Given the description of an element on the screen output the (x, y) to click on. 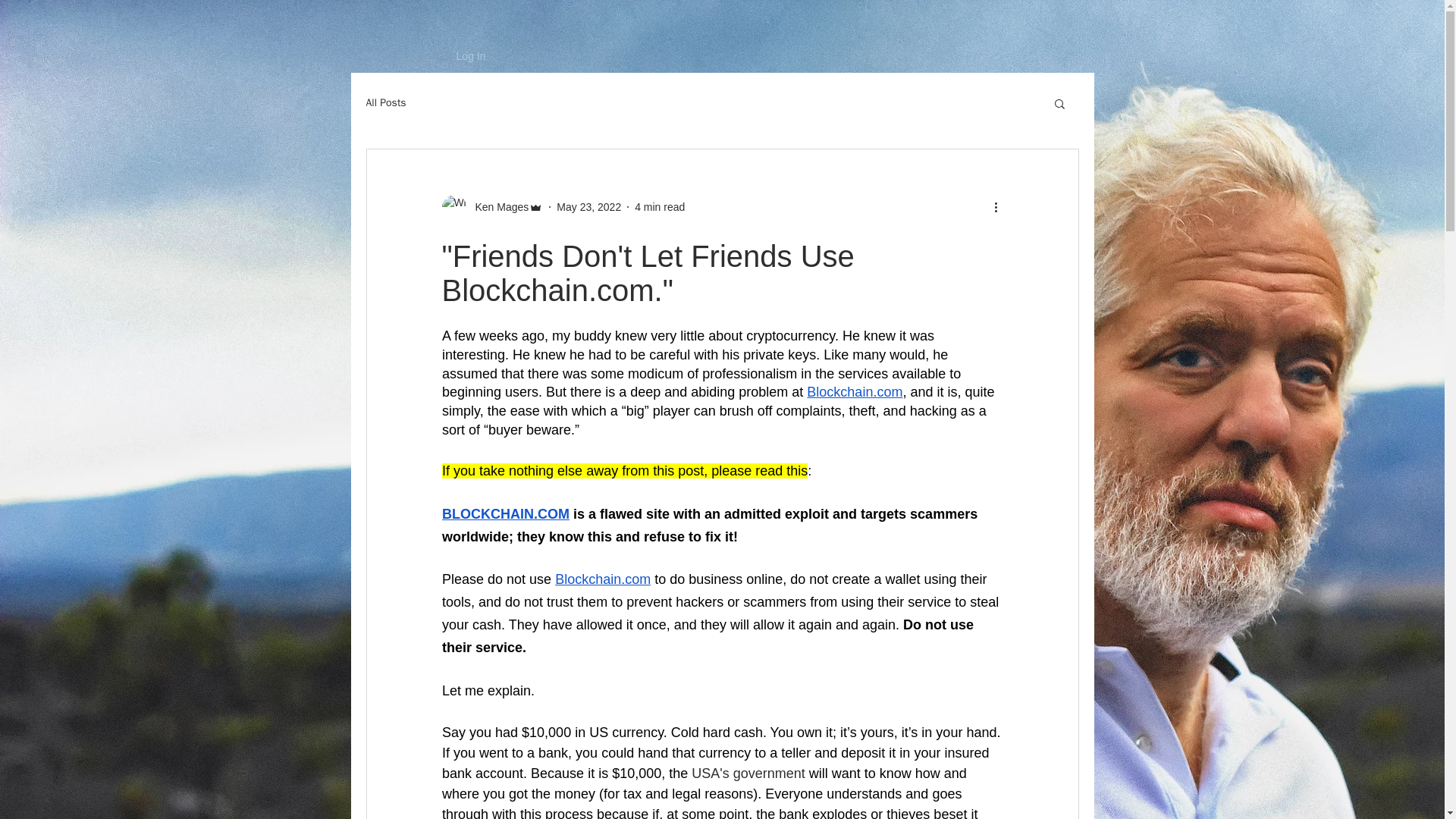
Ken Mages (496, 206)
Blockchain.com (854, 391)
All Posts (385, 102)
May 23, 2022 (588, 205)
Blockchain.com (602, 579)
Ken Mages (492, 206)
4 min read (659, 205)
Log In (455, 56)
BLOCKCHAIN.COM (505, 513)
